Given the description of an element on the screen output the (x, y) to click on. 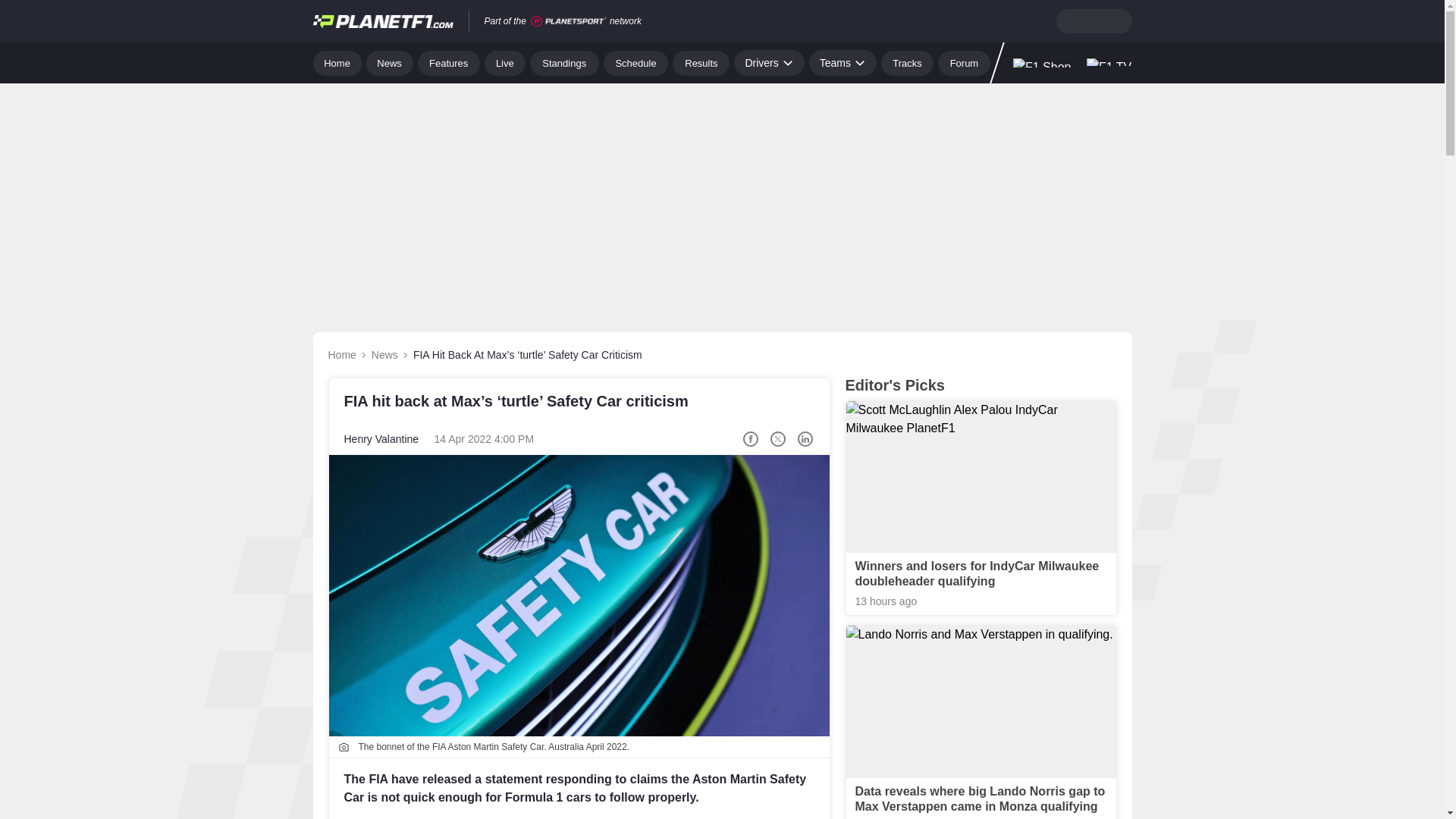
Drivers (768, 62)
Teams (842, 62)
Schedule (636, 62)
Live (504, 62)
Features (448, 62)
Results (700, 62)
News (389, 62)
Standings (563, 62)
Home (337, 62)
